Given the description of an element on the screen output the (x, y) to click on. 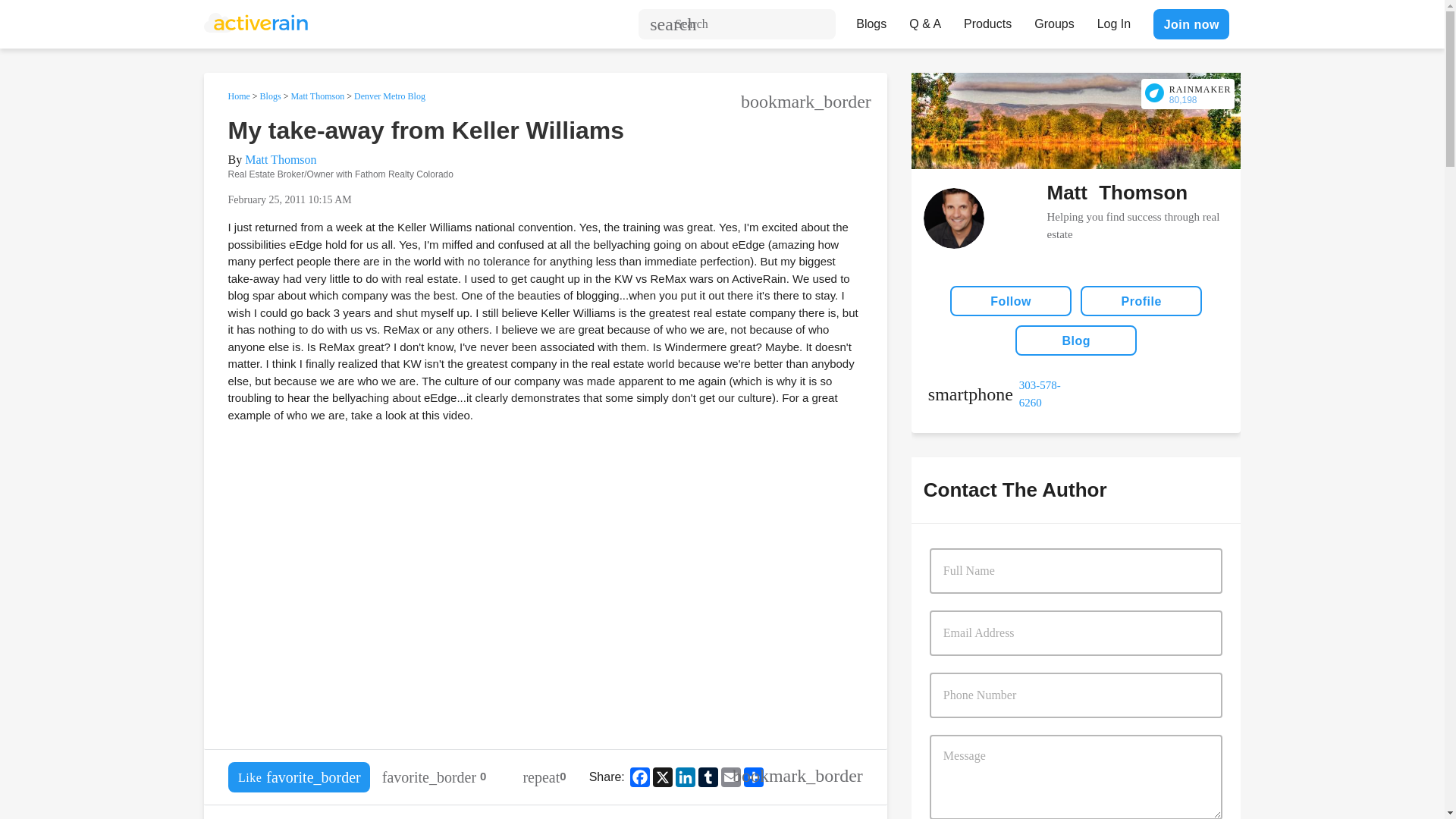
This entry hasn't been re-blogged (544, 776)
Share (753, 777)
Products (986, 19)
repeat 0 (544, 776)
Log In (1113, 19)
Home (237, 95)
Tumblr (708, 777)
Matt Thomson (316, 95)
Blogs (870, 19)
Facebook (639, 777)
X (662, 777)
Join now (1190, 24)
Groups (1053, 19)
Denver Metro Blog (389, 95)
Blogs (270, 95)
